Given the description of an element on the screen output the (x, y) to click on. 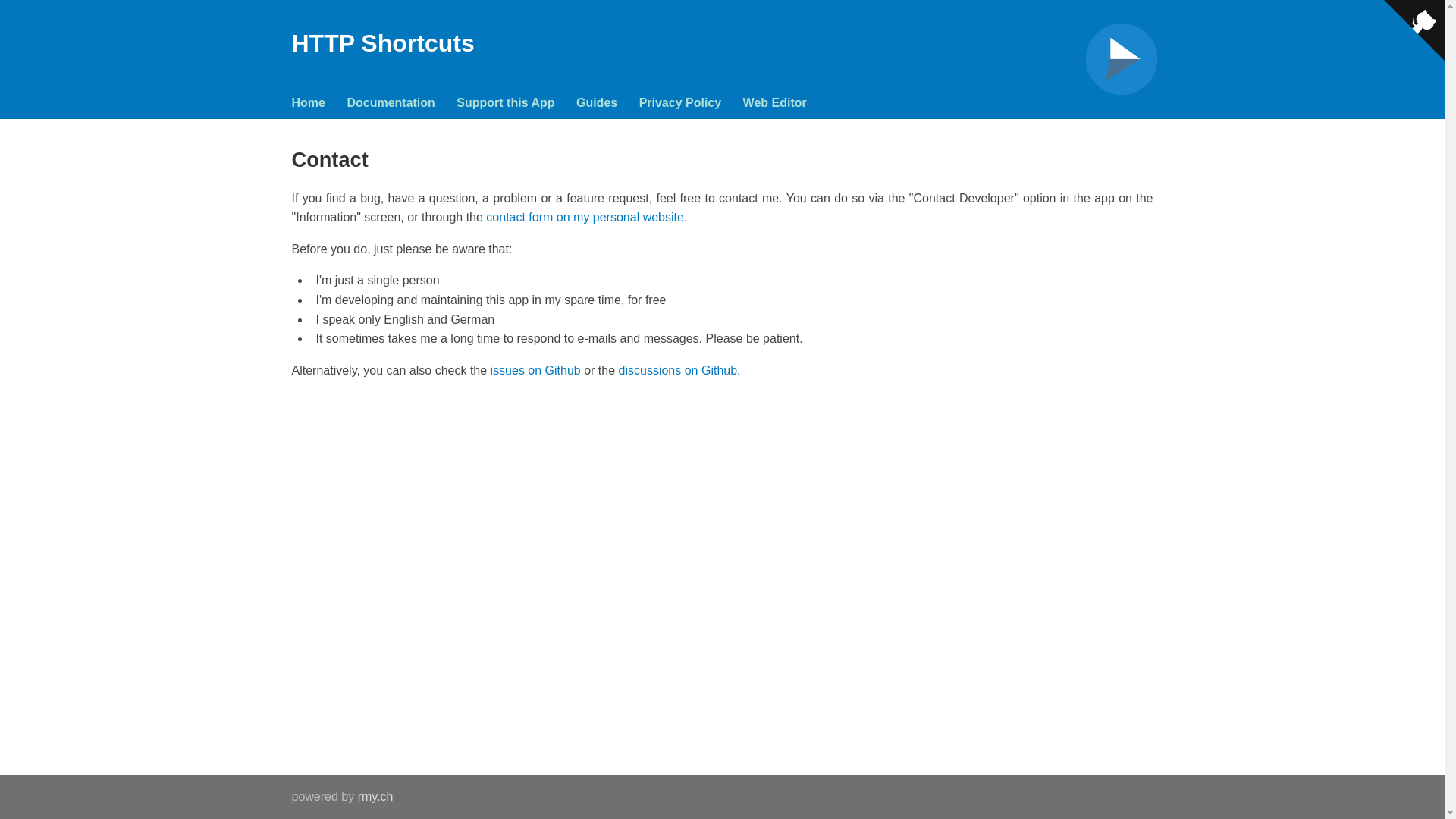
Support this App (505, 102)
rmy.ch (375, 796)
Privacy Policy (680, 102)
contact form on my personal website (585, 216)
HTTP Shortcuts (382, 42)
Home (307, 102)
issues on Github (535, 369)
discussions on Github (678, 369)
Web Editor (774, 102)
Guides (596, 102)
